Given the description of an element on the screen output the (x, y) to click on. 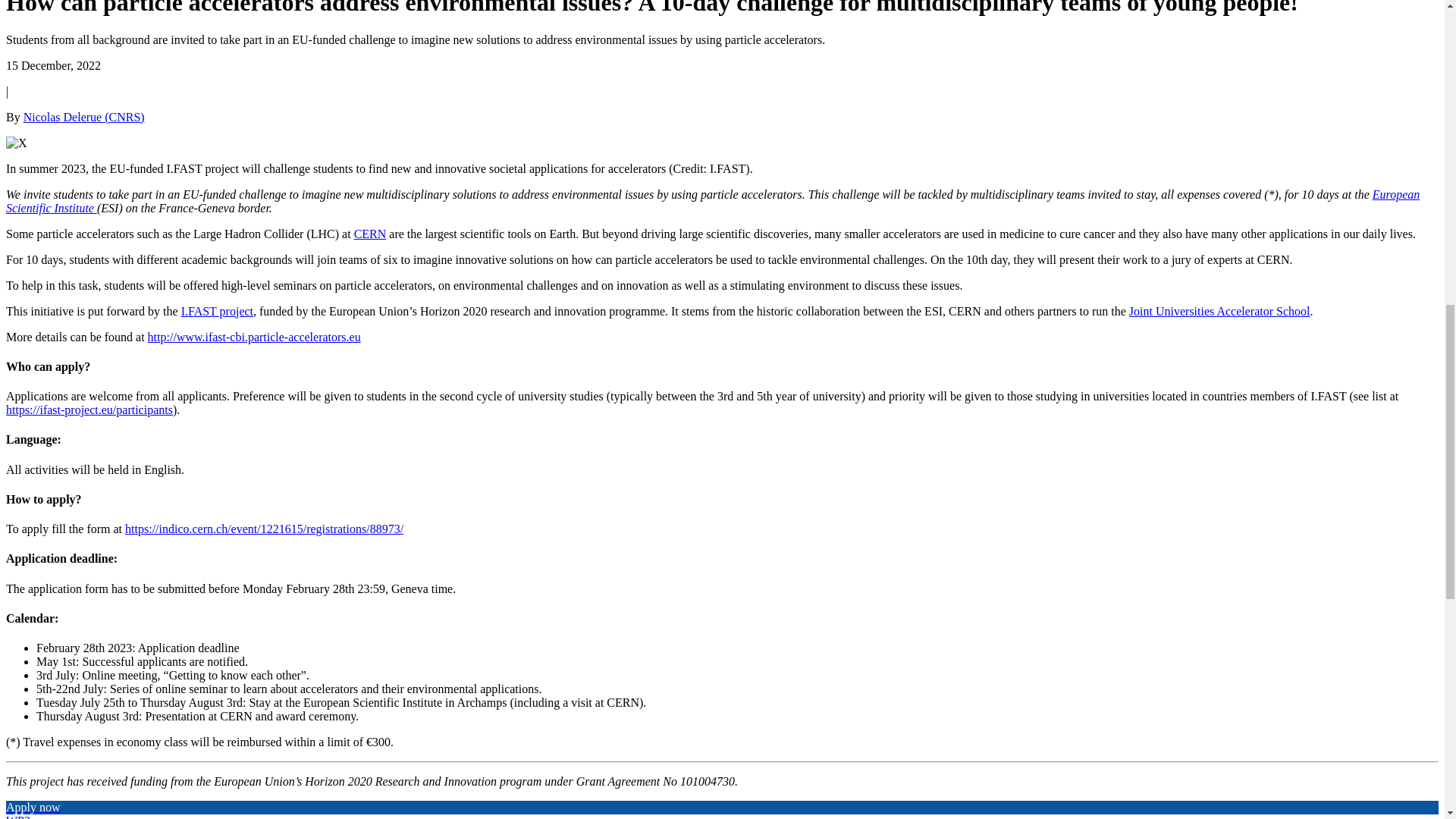
Apply now (33, 807)
